Given the description of an element on the screen output the (x, y) to click on. 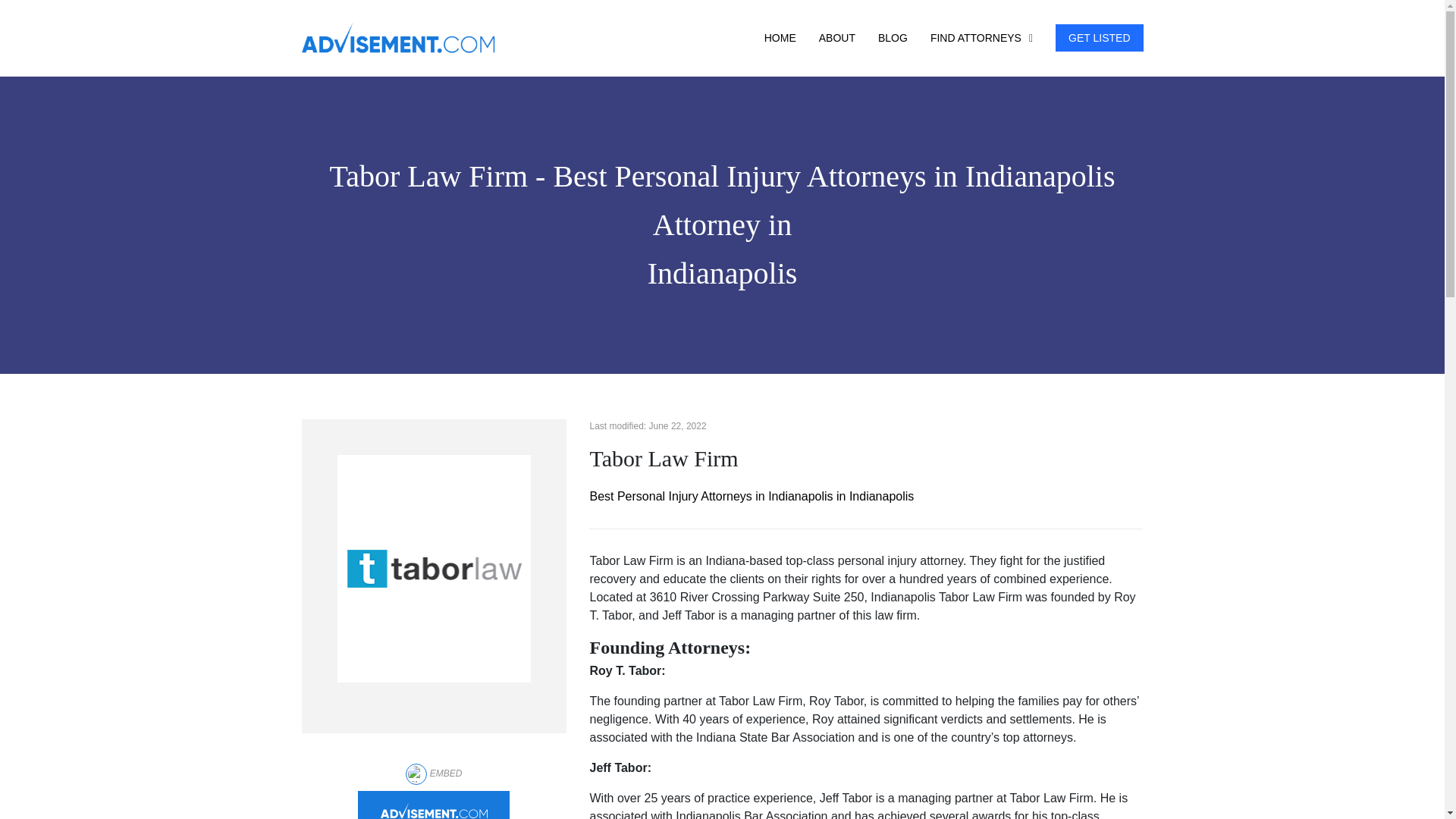
FIND ATTORNEYS (976, 37)
ABOUT (837, 37)
EMBED (433, 773)
GET LISTED (1098, 37)
HOME (780, 37)
BLOG (892, 37)
